Given the description of an element on the screen output the (x, y) to click on. 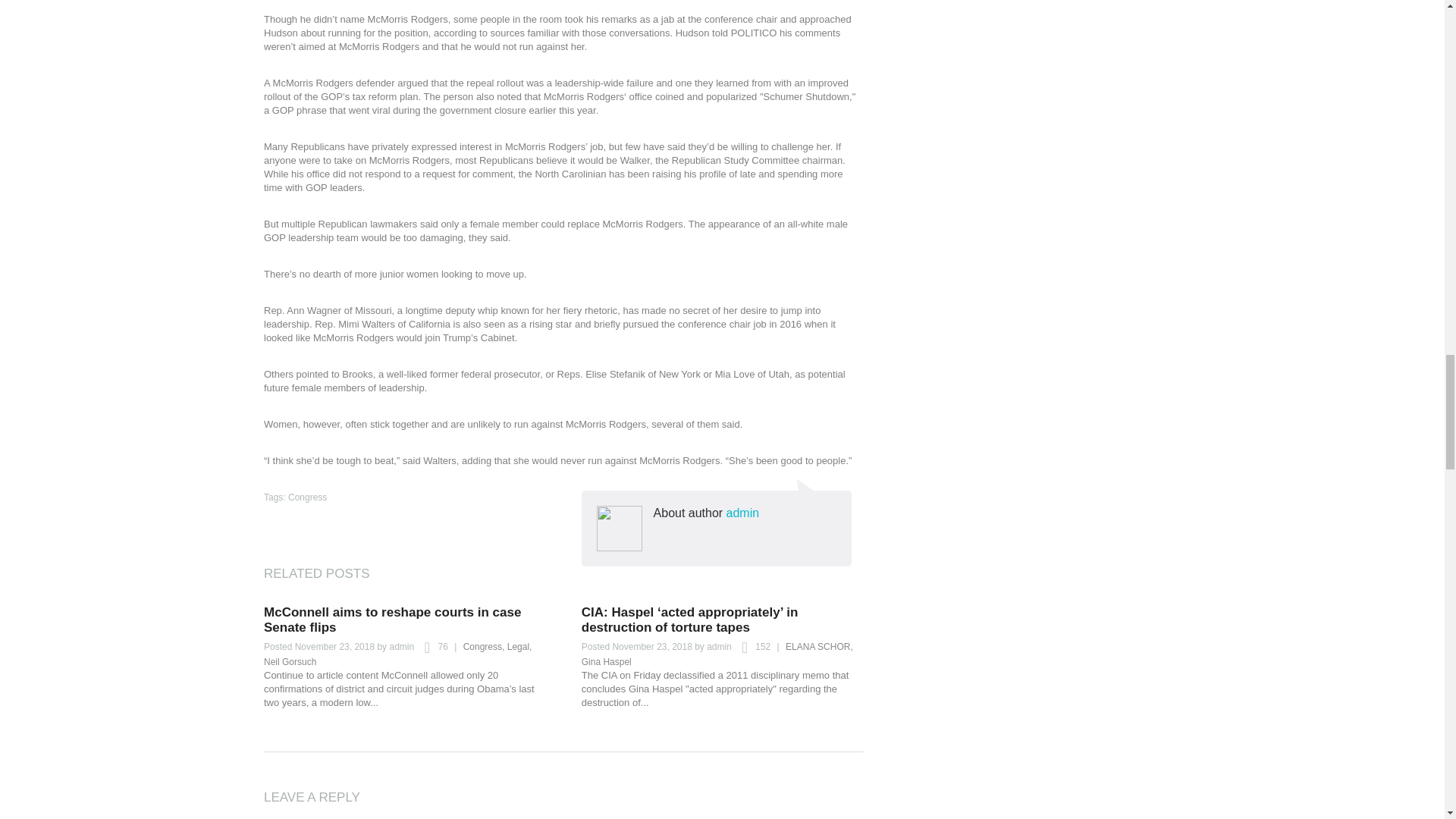
Neil Gorsuch (289, 662)
Gina Haspel (605, 662)
152 (751, 647)
Views - 152 (751, 647)
McConnell aims to reshape courts in case Senate flips (392, 619)
admin (743, 512)
Views - 76 (431, 647)
Congress, (484, 646)
admin (719, 646)
November 23, 2018 (651, 646)
Legal, (519, 646)
Congress (307, 497)
admin (400, 646)
76 (431, 647)
November 23, 2018 (334, 646)
